Given the description of an element on the screen output the (x, y) to click on. 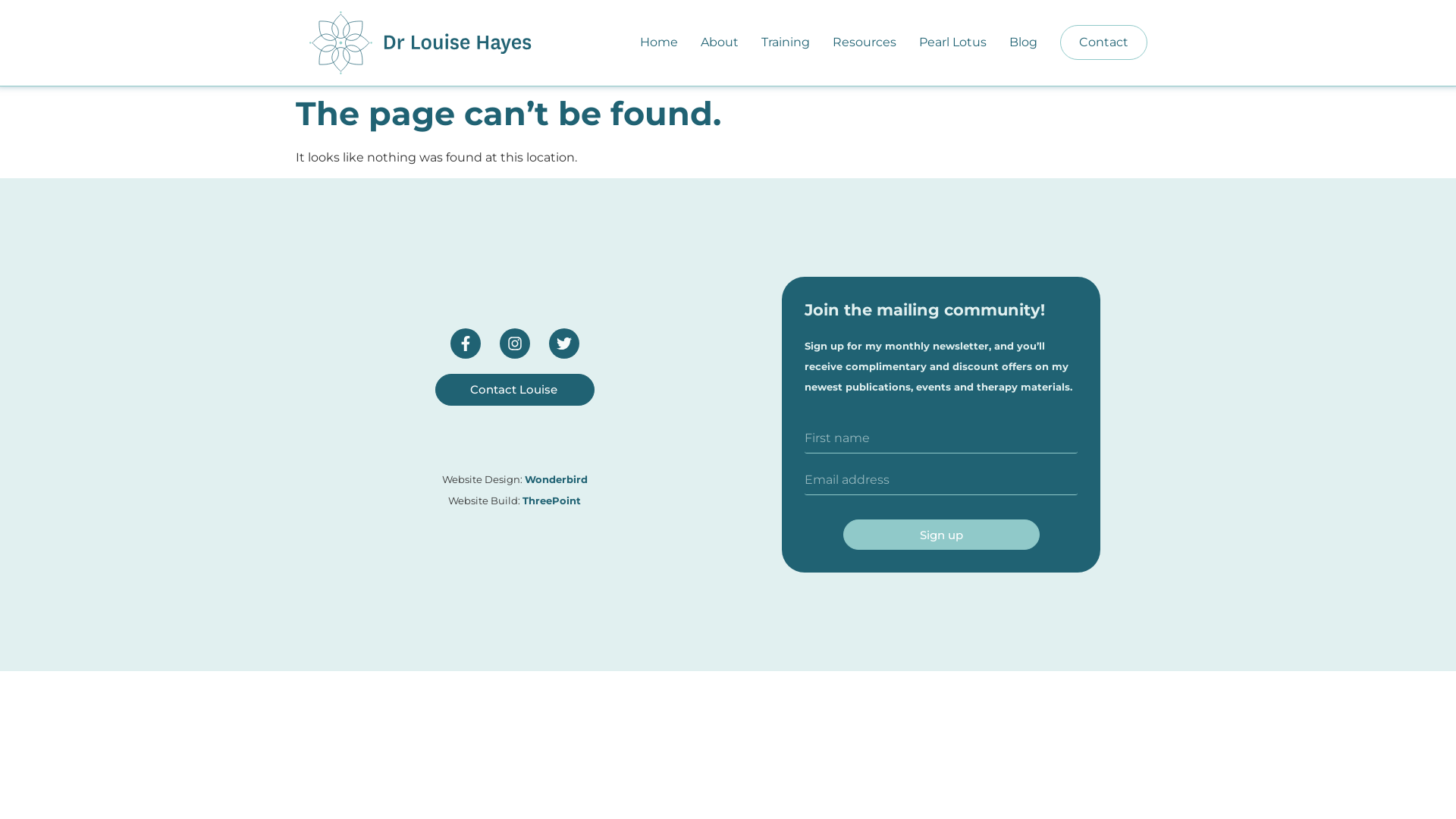
About Element type: text (719, 42)
Training Element type: text (785, 42)
Pearl Lotus Element type: text (952, 42)
Wonderbird Element type: text (555, 479)
Blog Element type: text (1022, 42)
Contact Element type: text (1103, 42)
Home Element type: text (658, 42)
Sign up Element type: text (941, 534)
ThreePoint Element type: text (551, 500)
Resources Element type: text (864, 42)
Contact Louise Element type: text (514, 389)
